Given the description of an element on the screen output the (x, y) to click on. 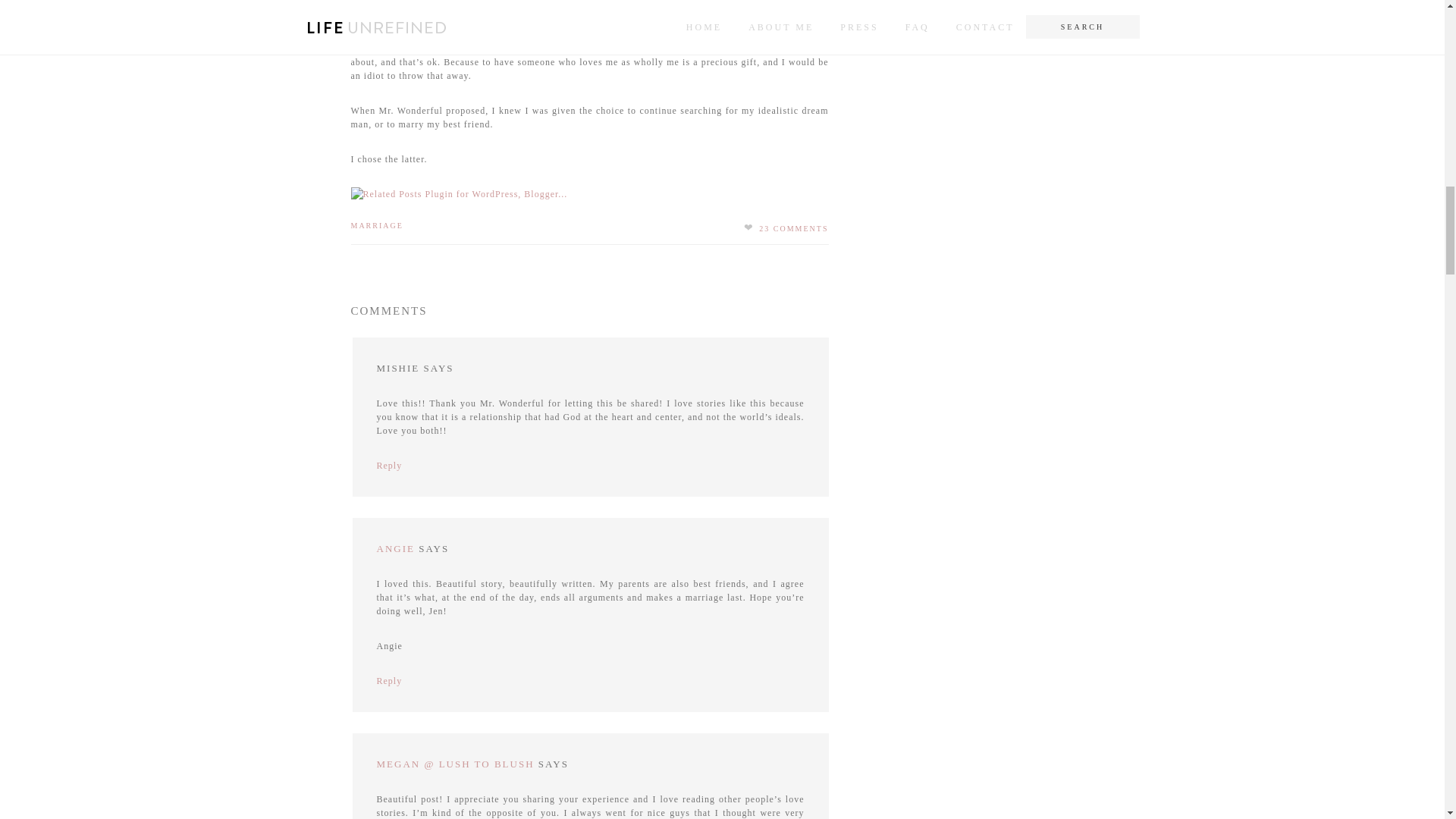
MARRIAGE (376, 225)
Reply (388, 680)
23 COMMENTS (793, 228)
ANGIE (394, 548)
Reply (388, 465)
